Given the description of an element on the screen output the (x, y) to click on. 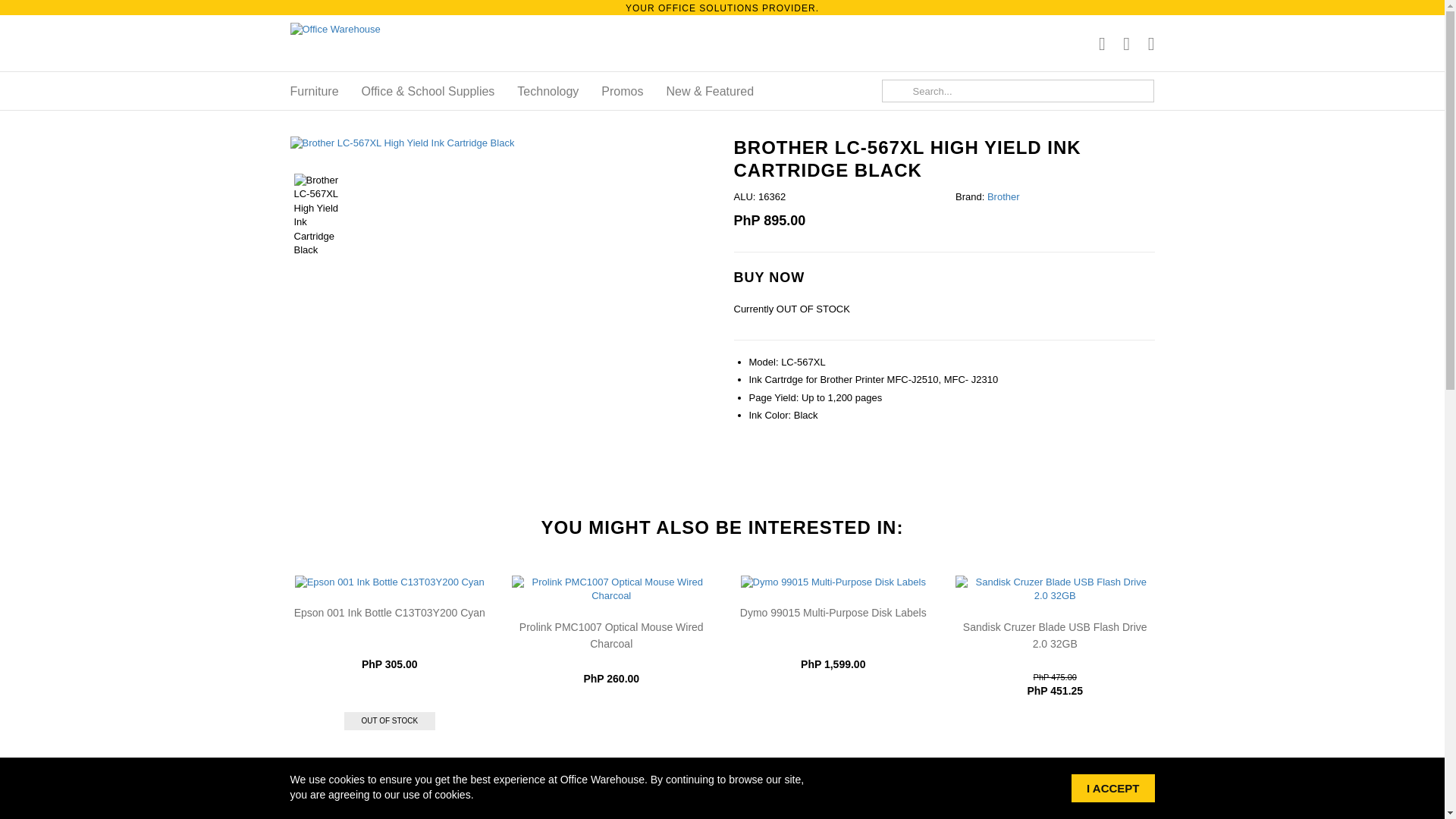
Furniture (313, 91)
